Given the description of an element on the screen output the (x, y) to click on. 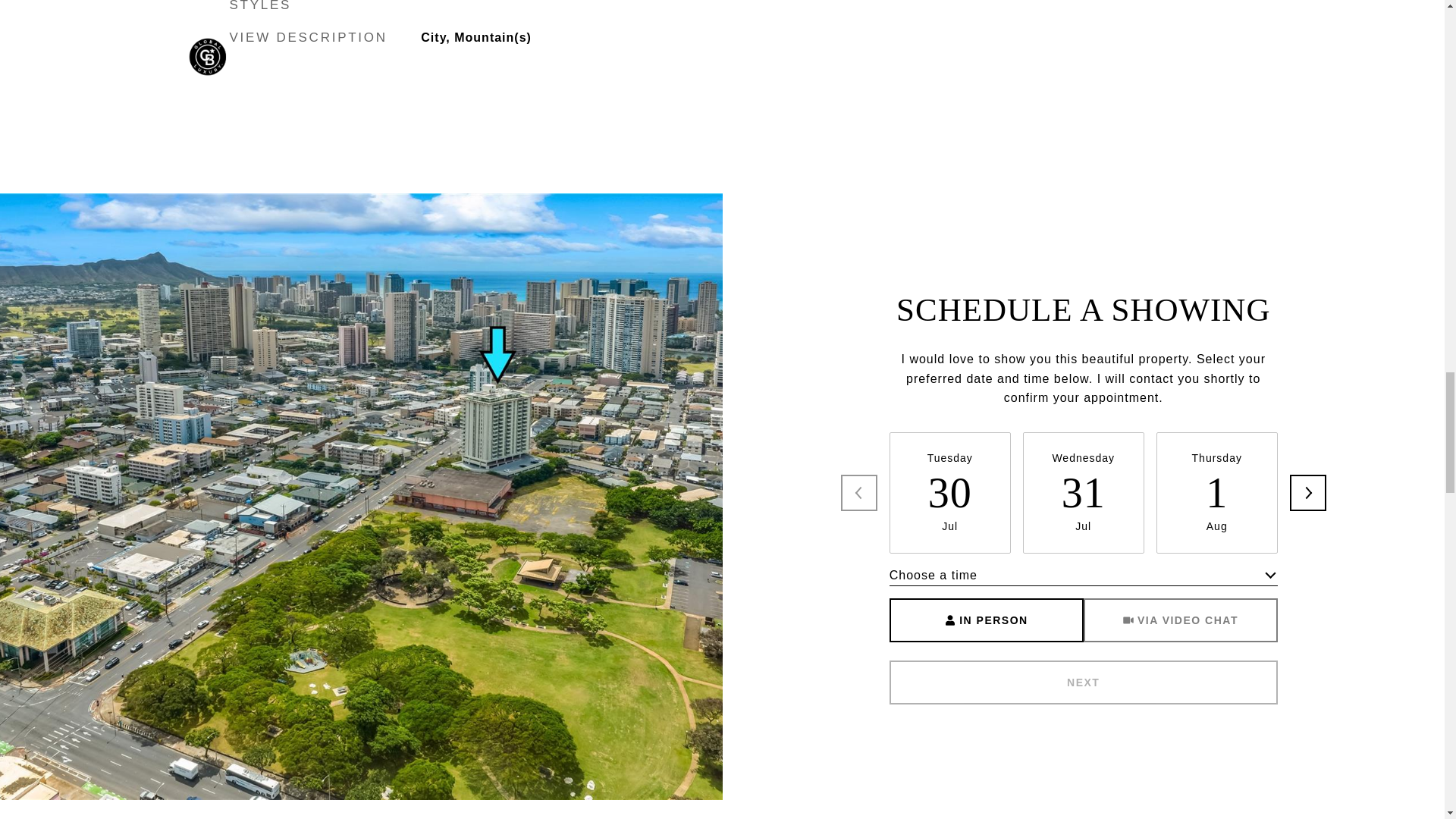
Choose a time (1083, 575)
